Given the description of an element on the screen output the (x, y) to click on. 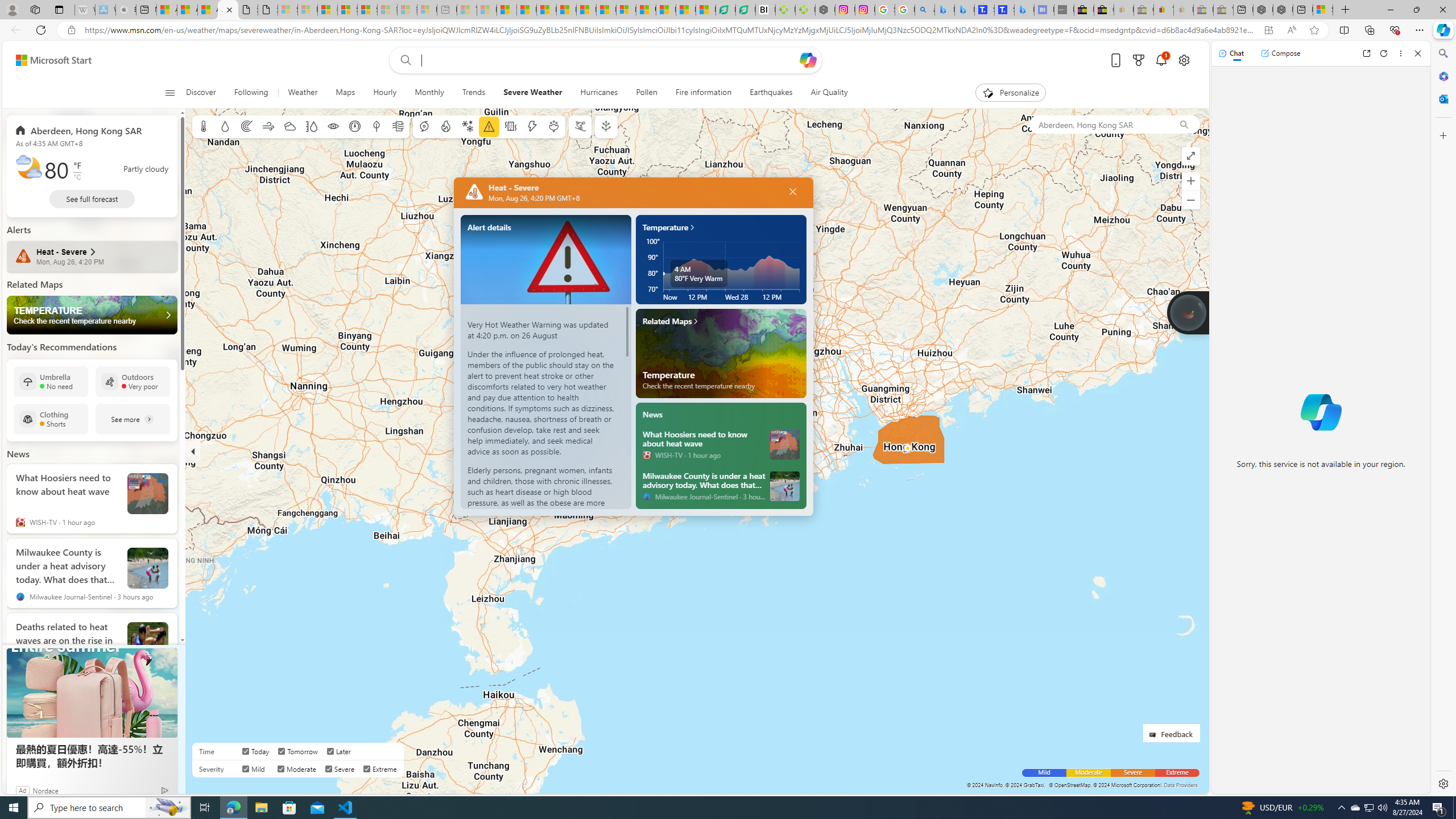
Earthquakes (771, 92)
Zoom out (1190, 199)
Hourly (385, 92)
Pollen (647, 92)
Milwaukee Journal-Sentinel (646, 496)
alabama high school quarterback dies - Search (924, 9)
